Given the description of an element on the screen output the (x, y) to click on. 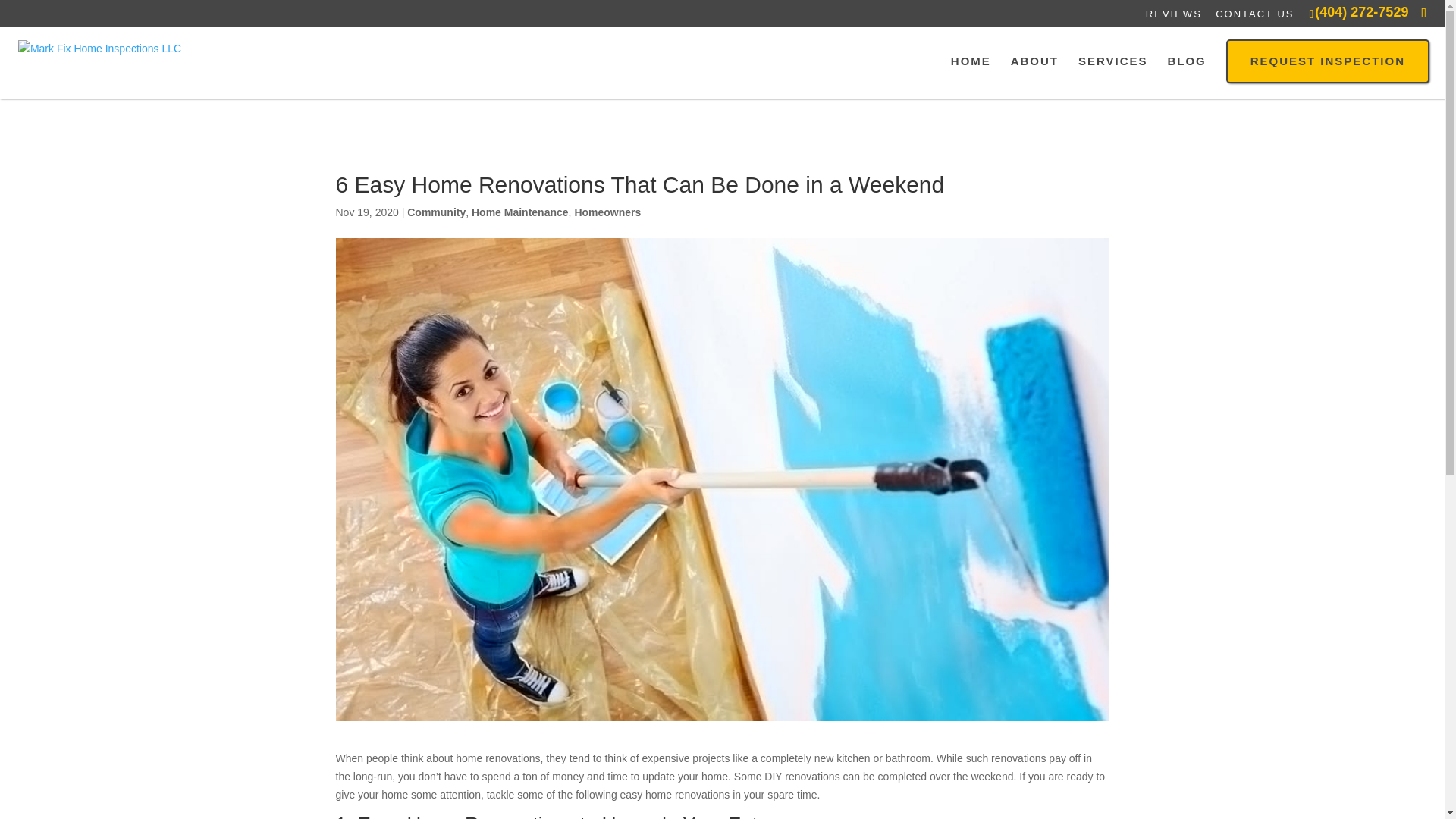
CONTACT US (1254, 16)
ABOUT (1034, 68)
REQUEST INSPECTION (1327, 68)
Homeowners (606, 212)
Home Maintenance (520, 212)
BLOG (1186, 68)
REVIEWS (1173, 16)
SERVICES (1113, 68)
HOME (970, 68)
Community (436, 212)
